Given the description of an element on the screen output the (x, y) to click on. 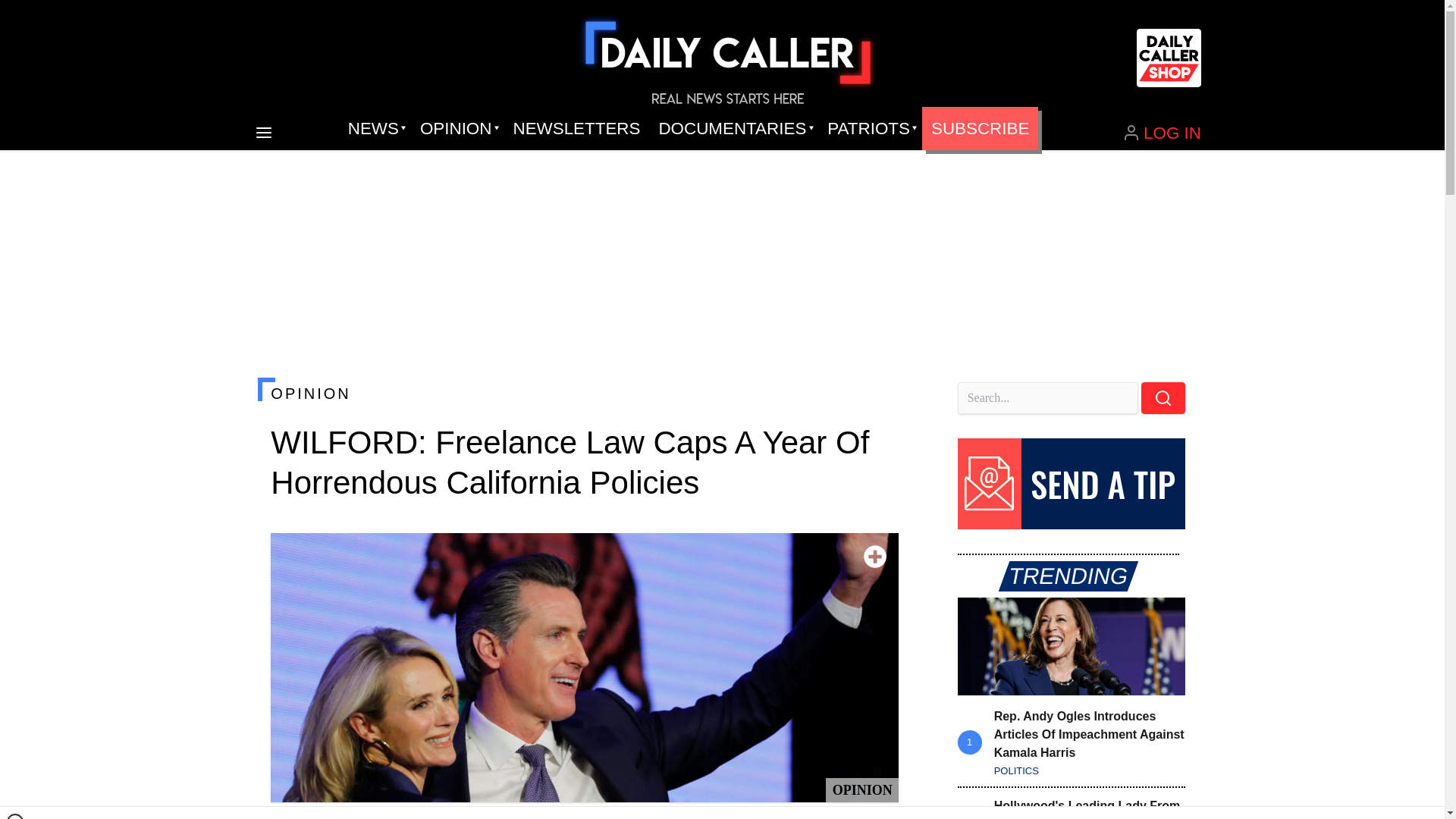
PATRIOTS (869, 128)
DOCUMENTARIES (733, 128)
OPINION (584, 393)
NEWS (374, 128)
Toggle fullscreen (874, 556)
OPINION (456, 128)
SUBSCRIBE (979, 128)
NEWSLETTERS (576, 128)
Close window (14, 816)
